Given the description of an element on the screen output the (x, y) to click on. 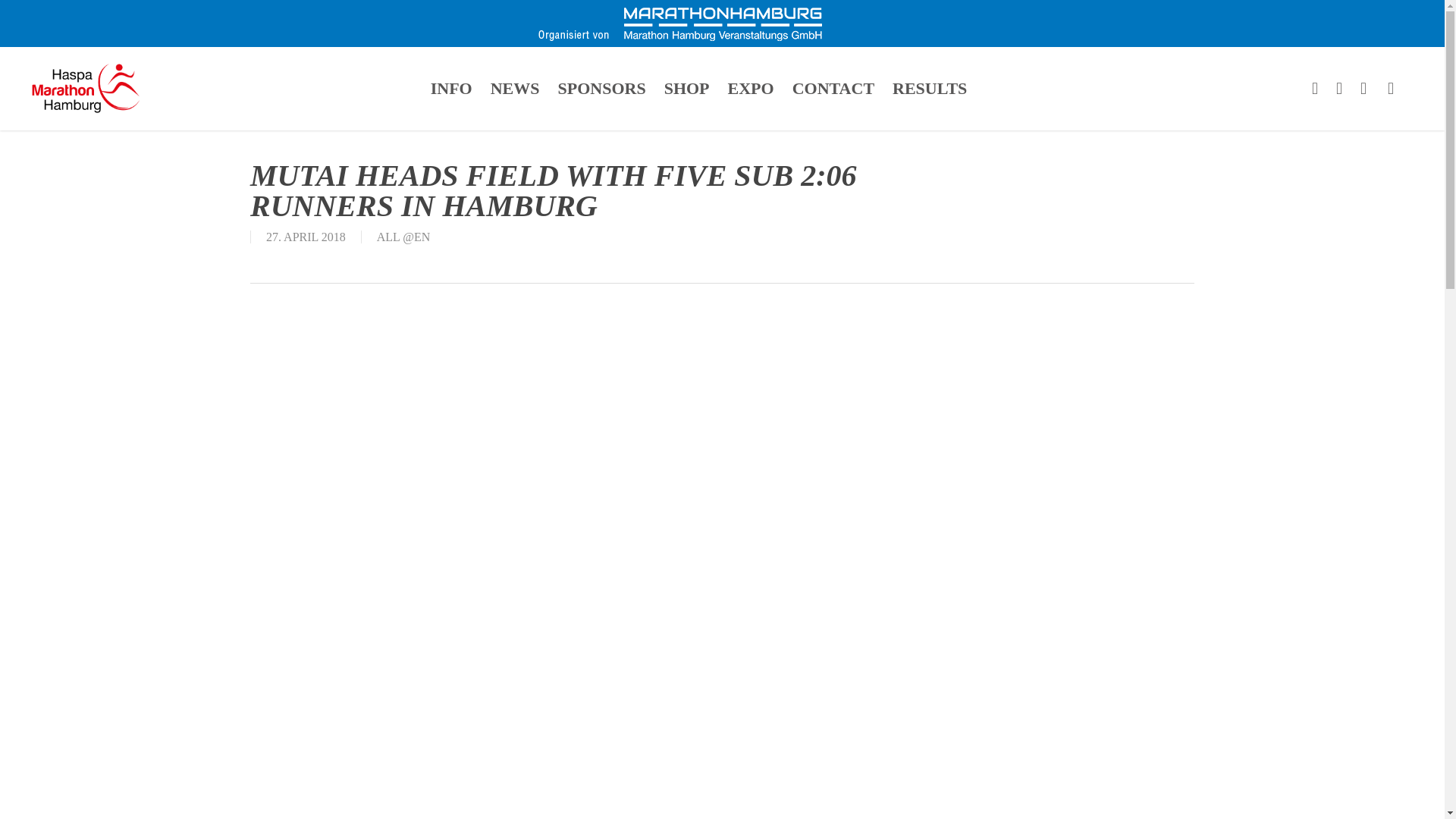
RESULTS (929, 88)
SHOP (687, 88)
NEWS (514, 88)
INSTAGRAM (1391, 88)
EXPO (751, 88)
SPONSORS (600, 88)
Open Cookie Preferences (32, 798)
TWITTER (1314, 88)
INFO (451, 88)
CONTACT (833, 88)
YOUTUBE (1363, 88)
